Given the description of an element on the screen output the (x, y) to click on. 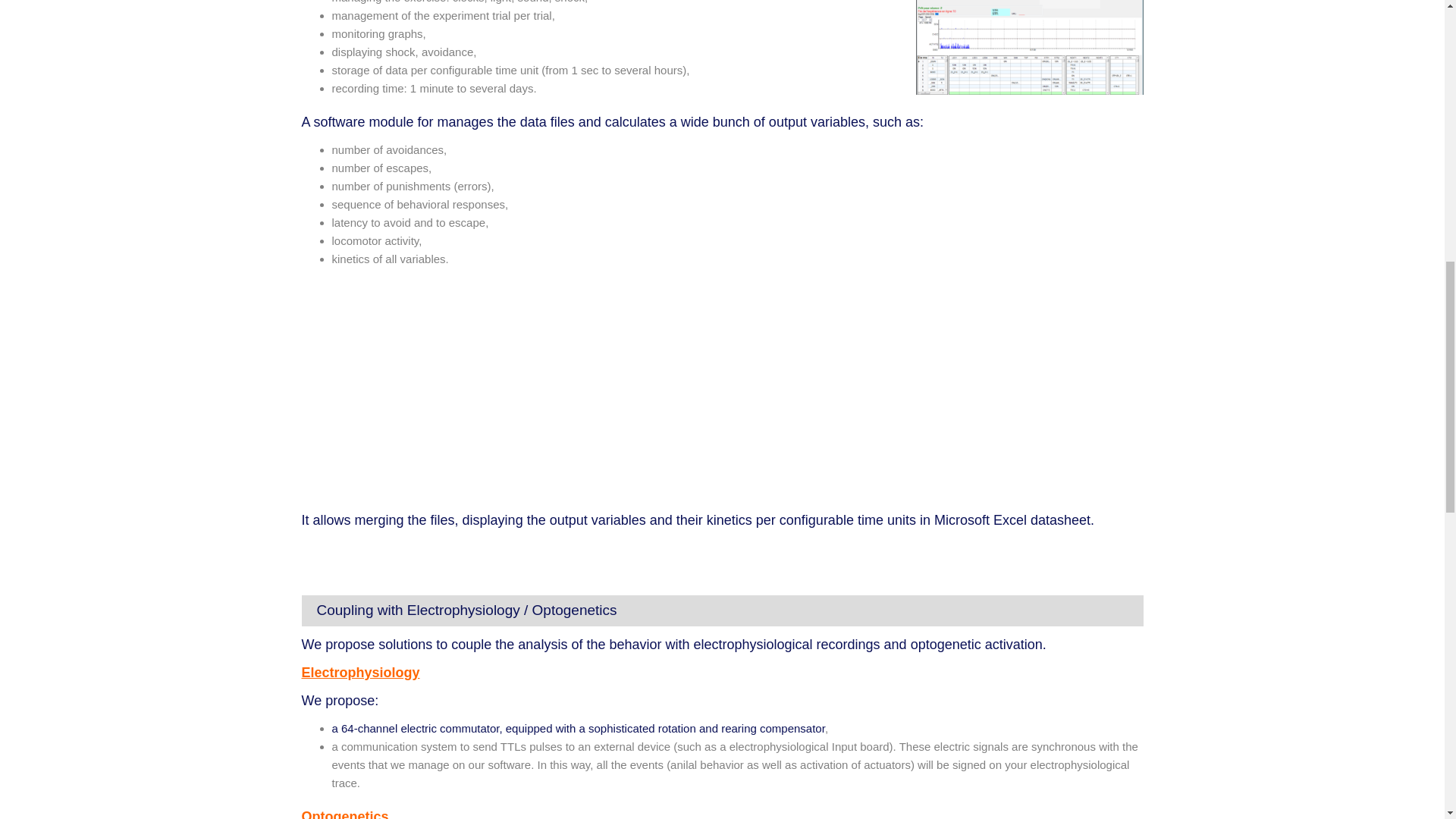
IMETRONIC - Shuttle Box software (491, 389)
Optogenetics (344, 814)
Electrophysiology (360, 672)
